Given the description of an element on the screen output the (x, y) to click on. 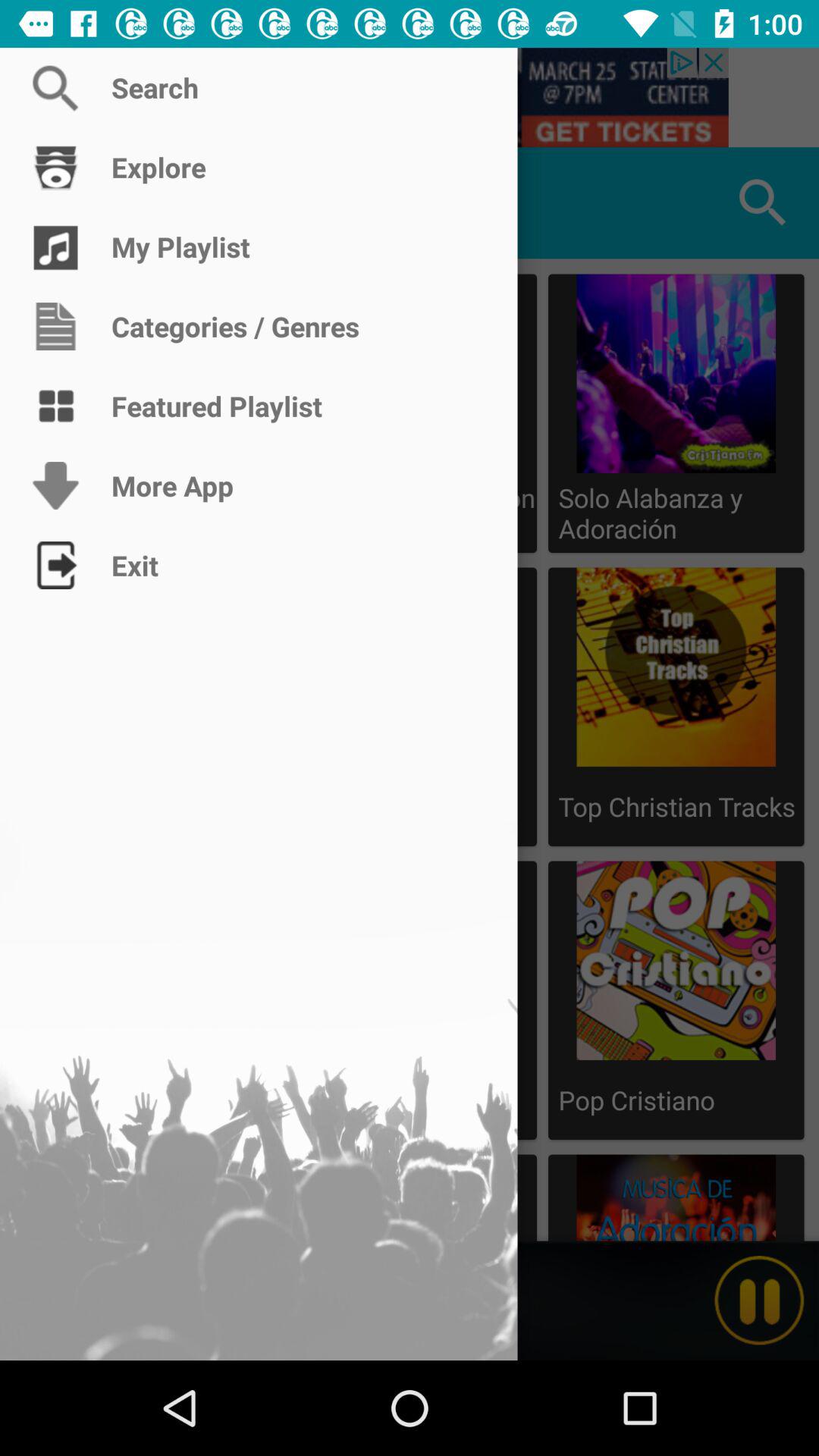
search christian music (409, 97)
